Given the description of an element on the screen output the (x, y) to click on. 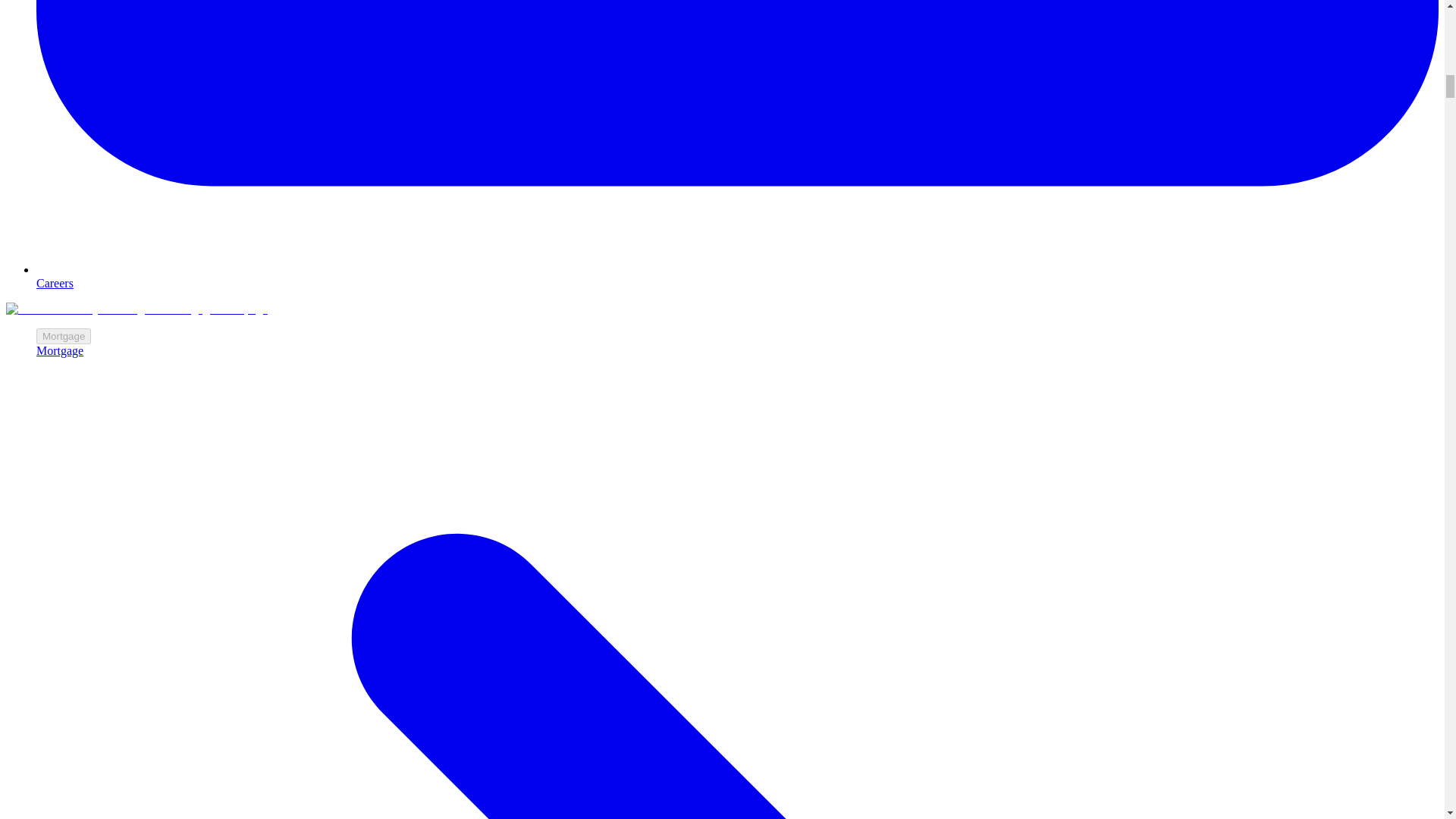
Mortgage (63, 335)
Gateway Homepage (136, 308)
